Given the description of an element on the screen output the (x, y) to click on. 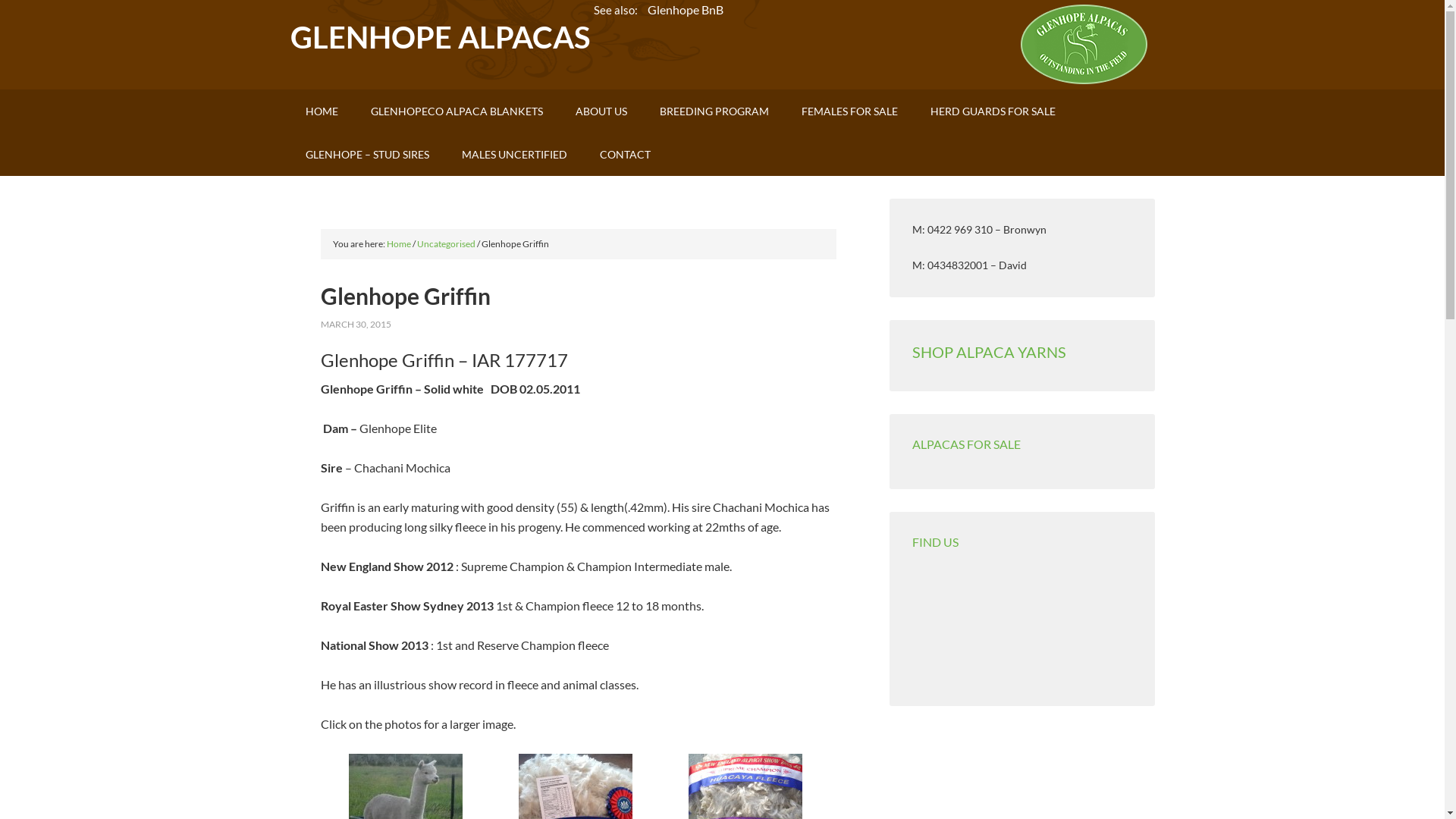
GLENHOPECO ALPACA BLANKETS Element type: text (455, 110)
Uncategorised Element type: text (446, 243)
FEMALES FOR SALE Element type: text (848, 110)
MALES UNCERTIFIED Element type: text (513, 153)
SHOP ALPACA YARNS Element type: text (988, 351)
GLENHOPE ALPACAS Element type: text (439, 36)
HOME Element type: text (320, 110)
Home Element type: text (398, 243)
BREEDING PROGRAM Element type: text (714, 110)
CONTACT Element type: text (624, 153)
HERD GUARDS FOR SALE Element type: text (992, 110)
ABOUT US Element type: text (600, 110)
